Given the description of an element on the screen output the (x, y) to click on. 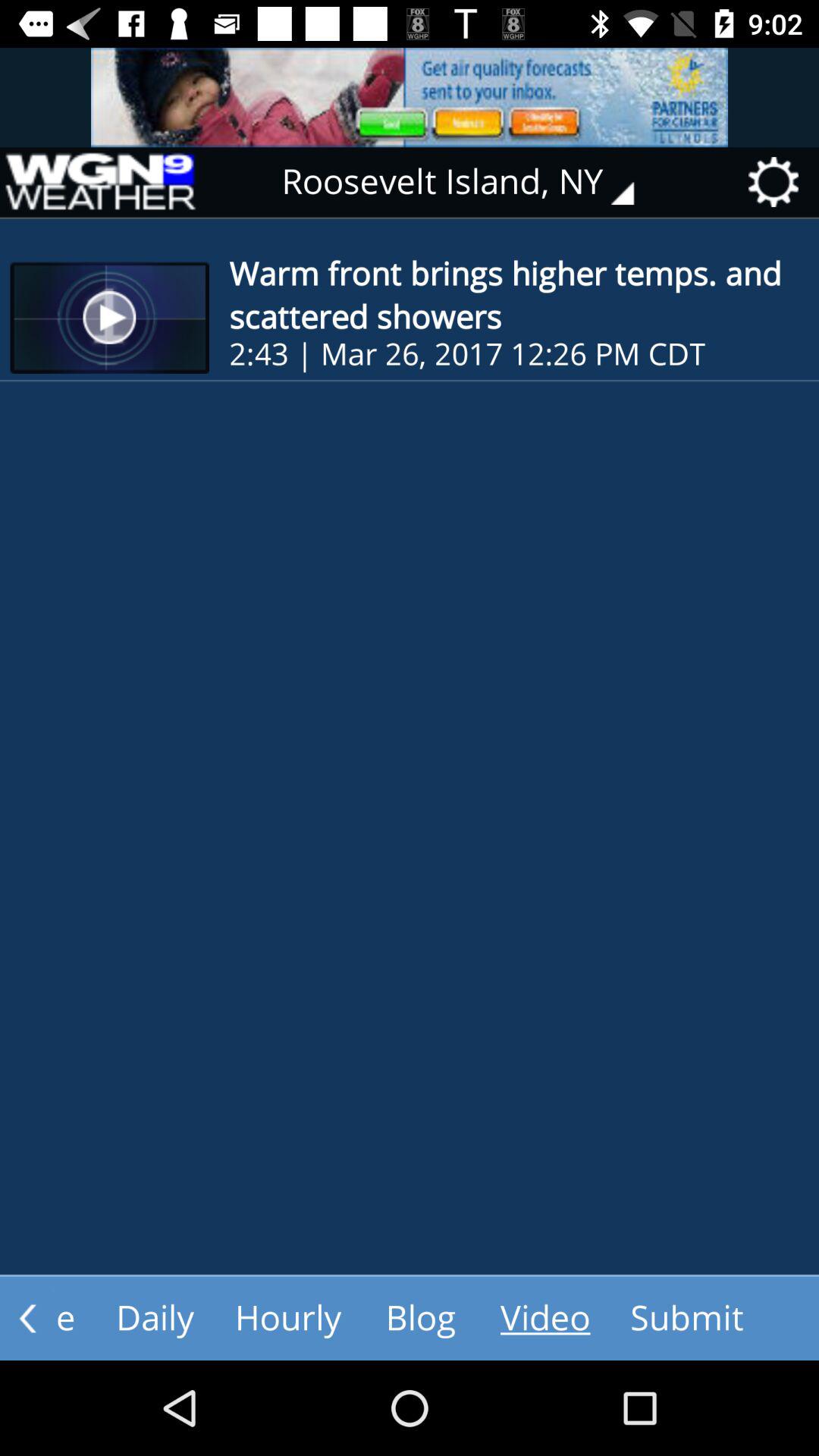
go to that page (99, 182)
